Given the description of an element on the screen output the (x, y) to click on. 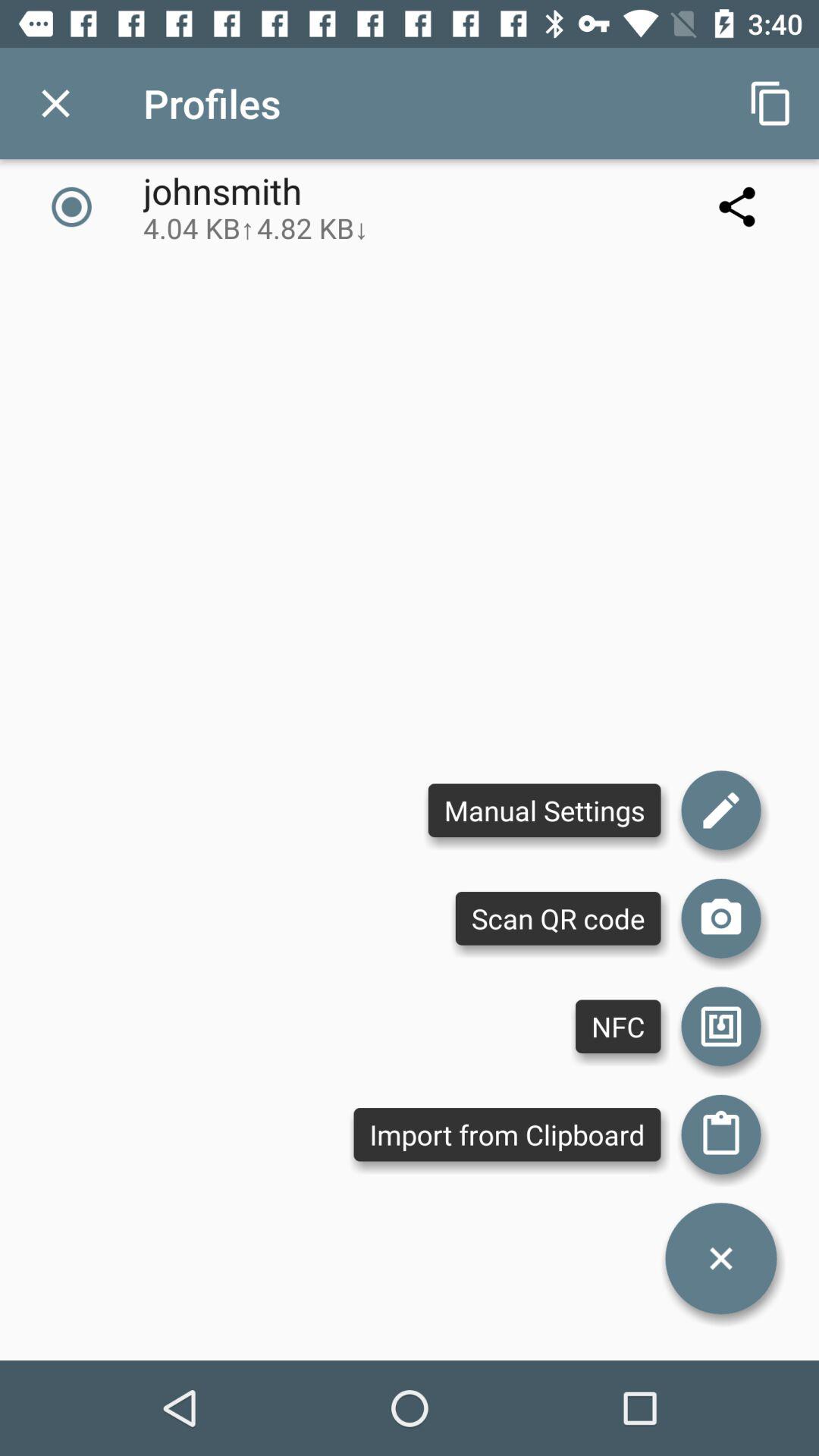
scan qr code option (721, 918)
